Given the description of an element on the screen output the (x, y) to click on. 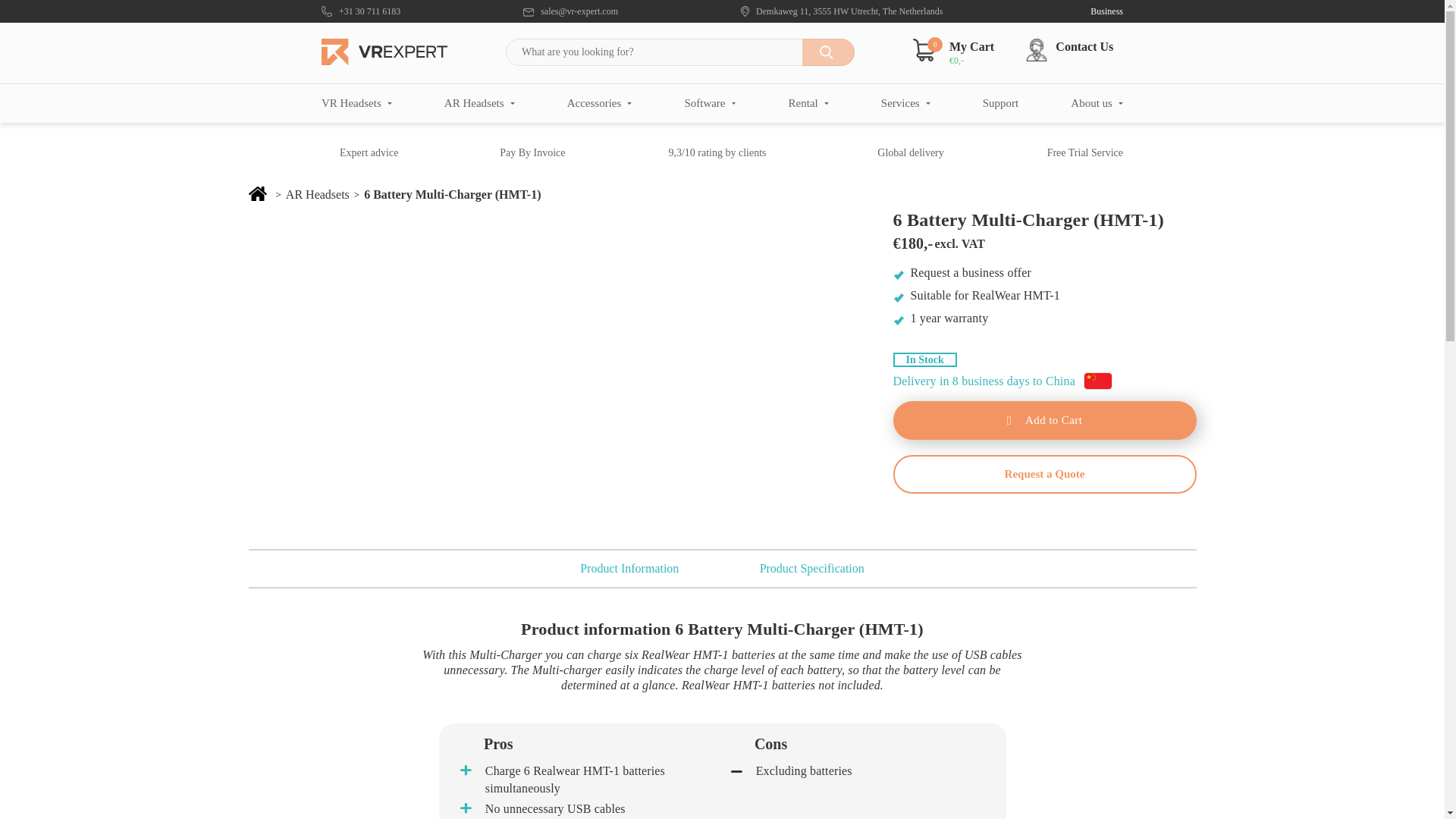
Rental (808, 103)
Software (709, 103)
VR Headsets (356, 103)
Search for products here ... (679, 52)
About us (1096, 103)
Services (905, 103)
Business (1093, 11)
AR Headsets (479, 103)
0 (924, 48)
Accessories (599, 103)
Contact Us (1075, 49)
Support (1000, 103)
Demkaweg 11, 3555 HW Utrecht, The Netherlands (842, 11)
